Given the description of an element on the screen output the (x, y) to click on. 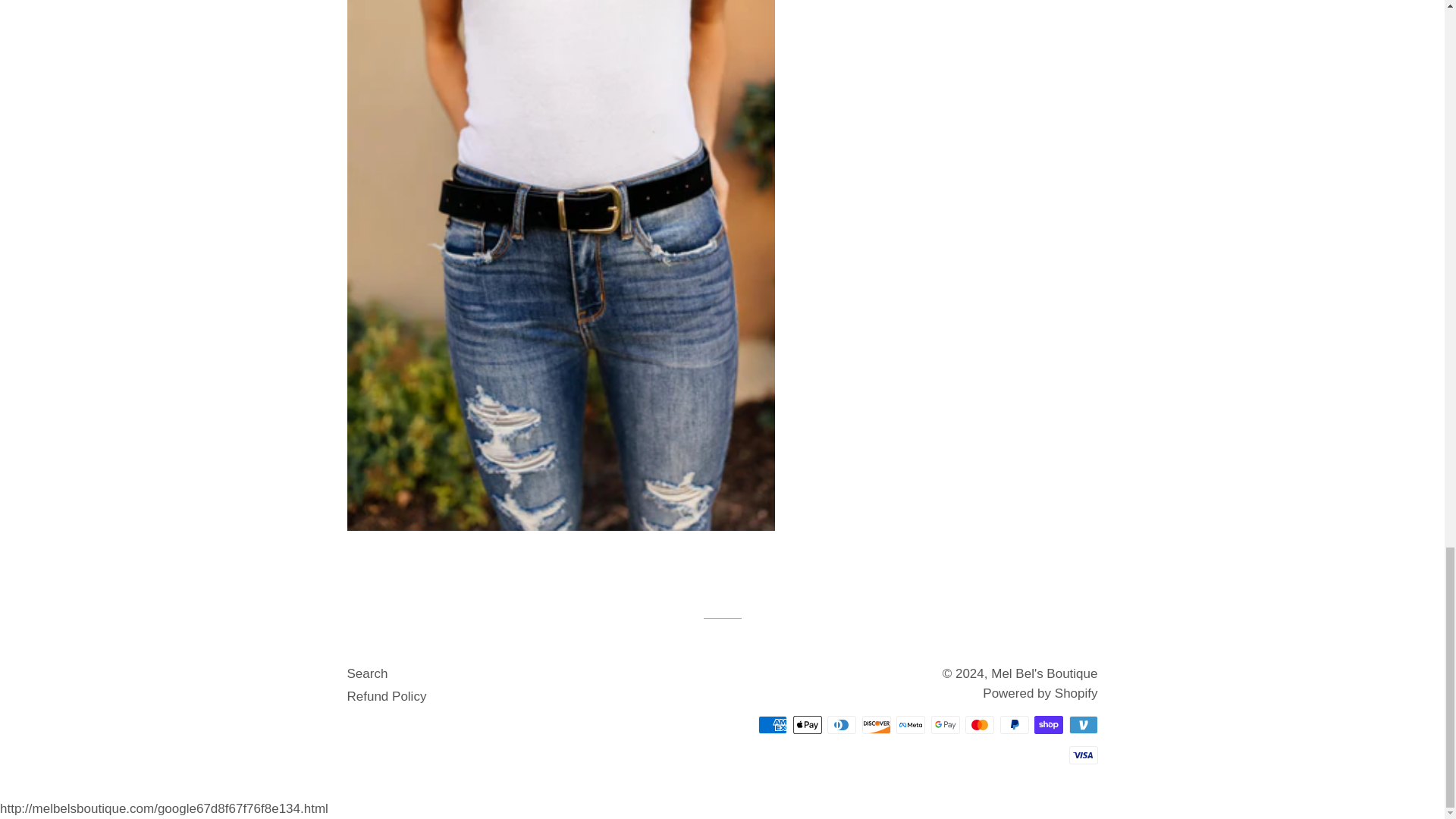
Venmo (1082, 724)
Apple Pay (807, 724)
Google Pay (945, 724)
American Express (772, 724)
Mel Bel's Boutique (1044, 673)
PayPal (1012, 724)
Refund Policy (386, 696)
Search (367, 673)
Discover (875, 724)
Mastercard (979, 724)
Powered by Shopify (1039, 693)
Shop Pay (1047, 724)
Diners Club (841, 724)
Visa (1082, 755)
Meta Pay (910, 724)
